Given the description of an element on the screen output the (x, y) to click on. 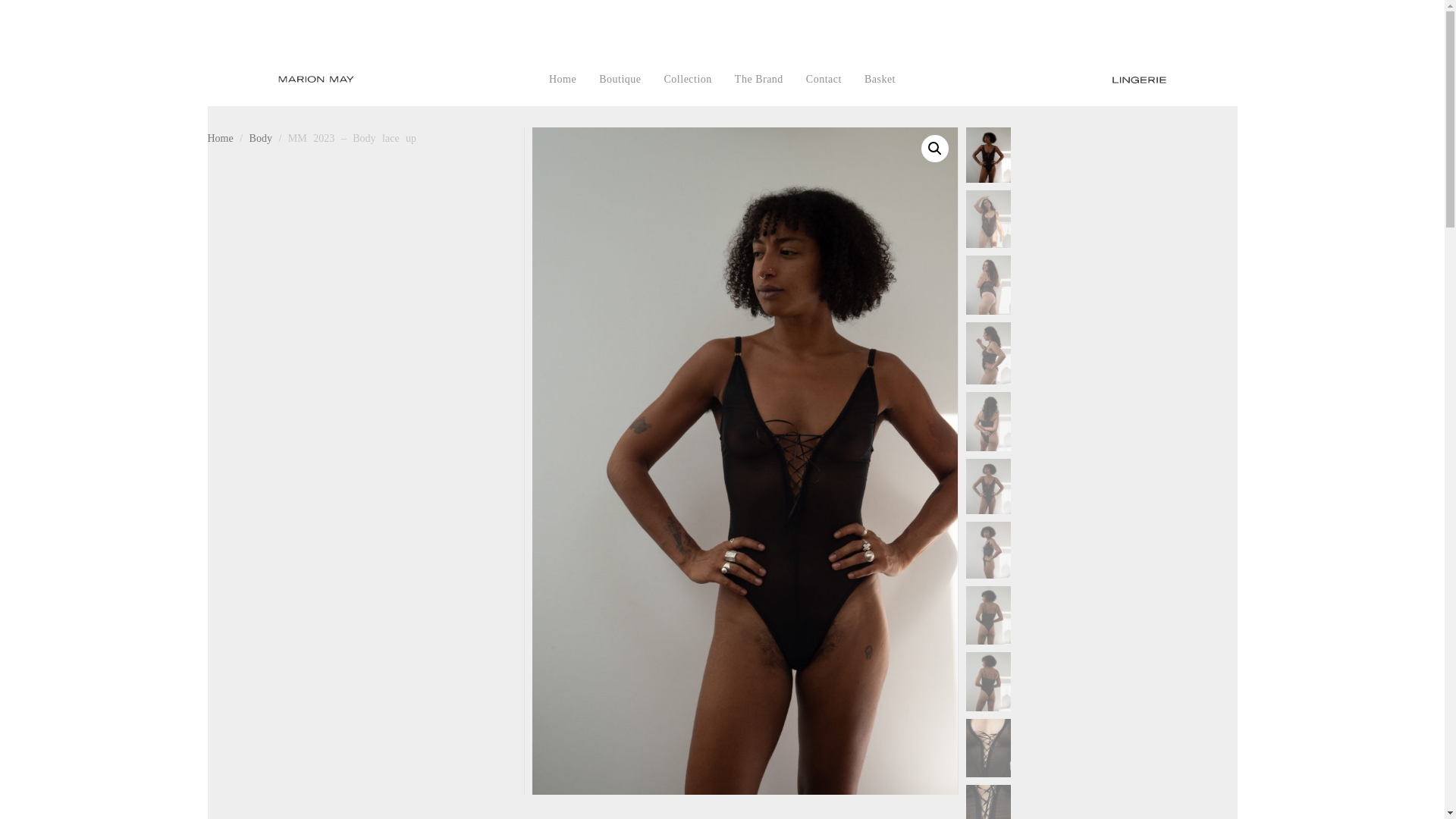
Basket (880, 79)
Home (220, 138)
Contact (823, 79)
The Brand (758, 79)
Boutique (620, 79)
Body (260, 138)
Collection (687, 79)
Home (562, 79)
